Given the description of an element on the screen output the (x, y) to click on. 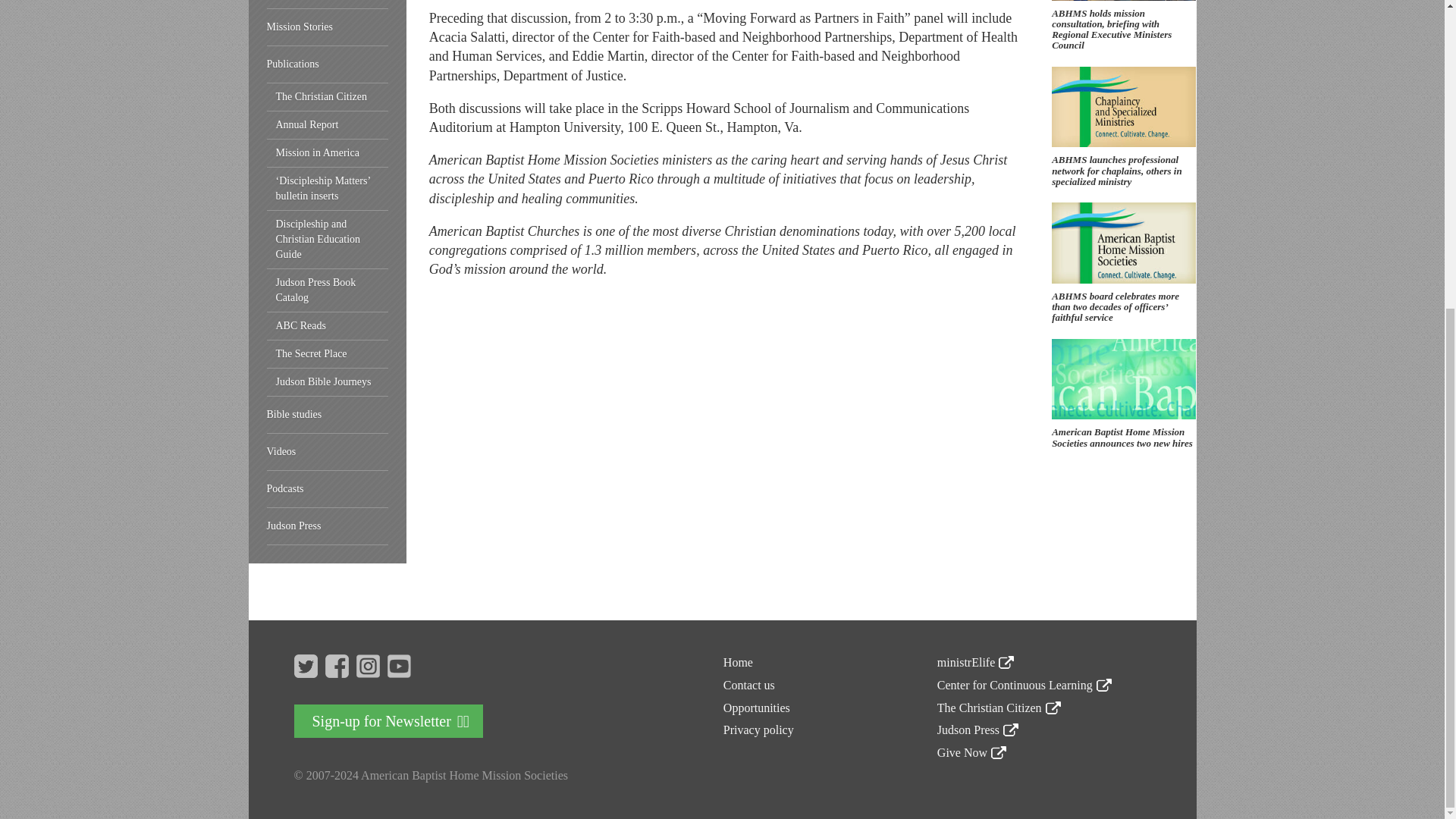
The Secret Place (327, 354)
ABC Reads (327, 326)
Judson Bible Journeys (327, 382)
The Christian Citizen (327, 97)
Publications (327, 64)
Annual Report (327, 125)
Newsroom (327, 4)
Mission in America (327, 153)
Judson Press Book Catalog (327, 290)
Discipleship and Christian Education Guide (327, 239)
Mission Stories (327, 27)
